Given the description of an element on the screen output the (x, y) to click on. 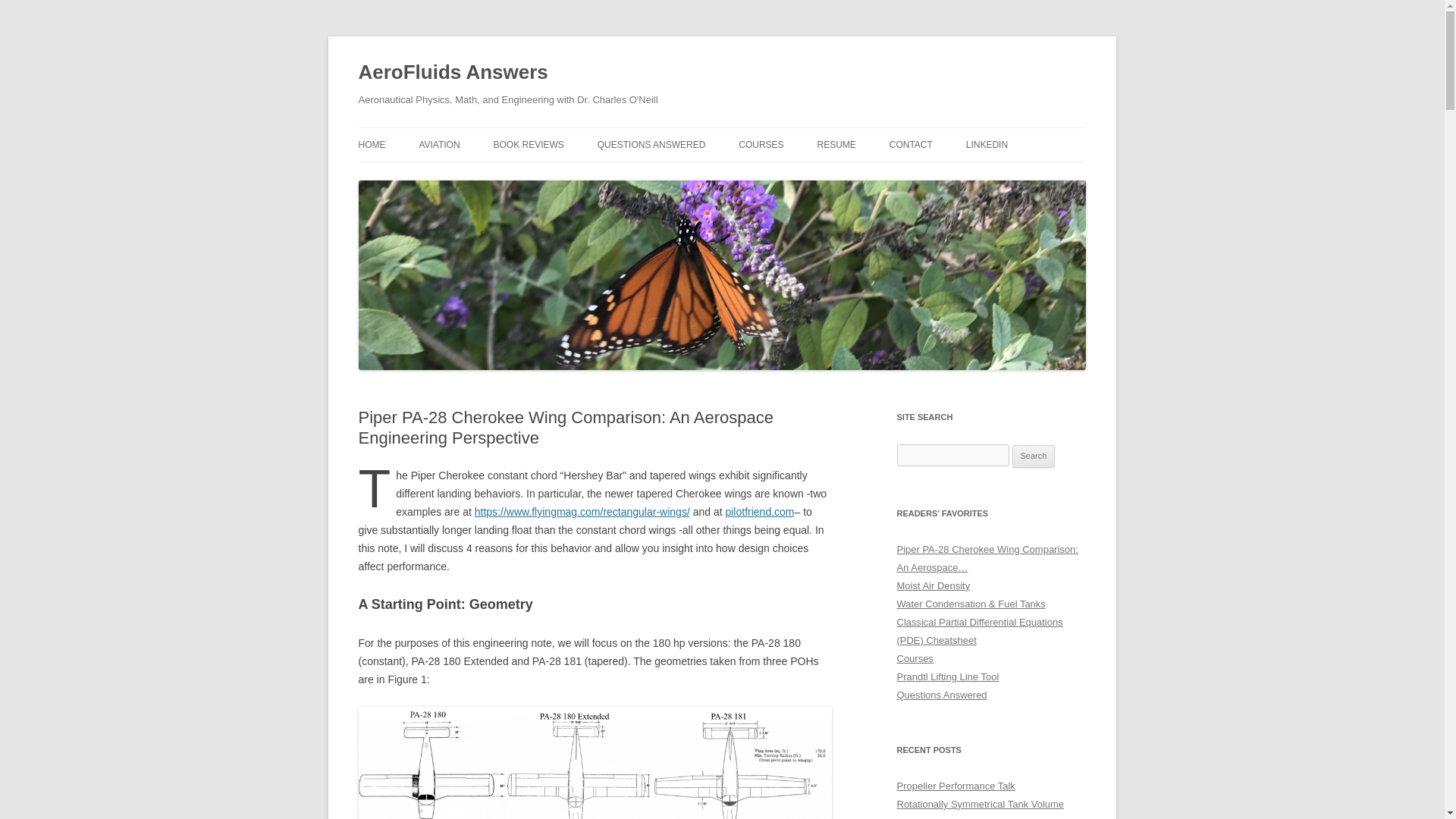
AeroFluids Answers (452, 72)
Courses (914, 658)
pilotfriend.com (759, 511)
Rotationally Symmetrical Tank Volume (980, 803)
LINKEDIN (986, 144)
CONTACT (911, 144)
COURSES (760, 144)
Can ChatGPT pass an undergraduate aerodynamics exam? (978, 817)
Search (1033, 456)
